Given the description of an element on the screen output the (x, y) to click on. 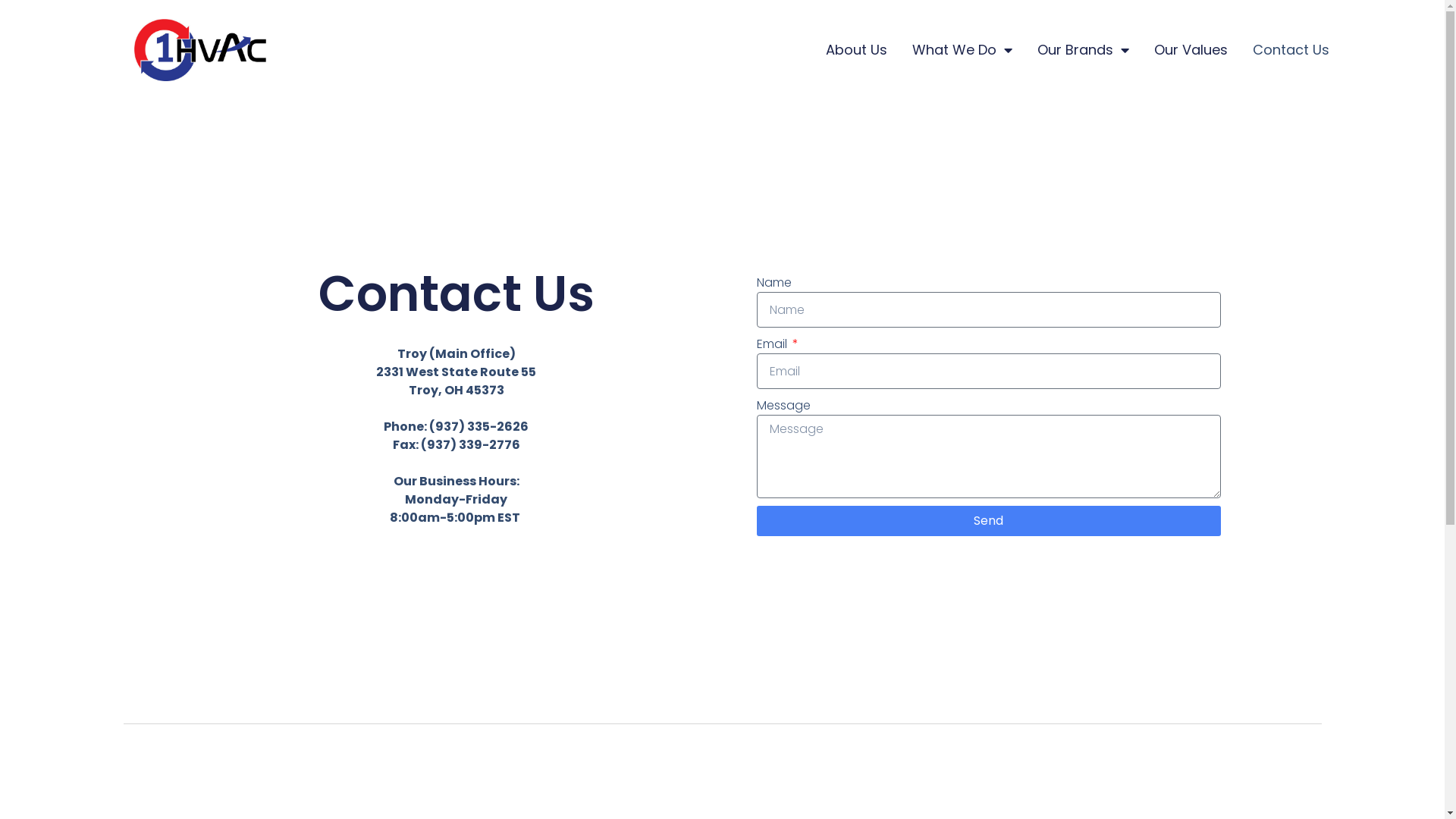
Contact Us Element type: text (1290, 49)
Our Brands Element type: text (1083, 49)
Our Values Element type: text (1190, 49)
Send Element type: text (988, 520)
What We Do Element type: text (962, 49)
About Us Element type: text (856, 49)
